Given the description of an element on the screen output the (x, y) to click on. 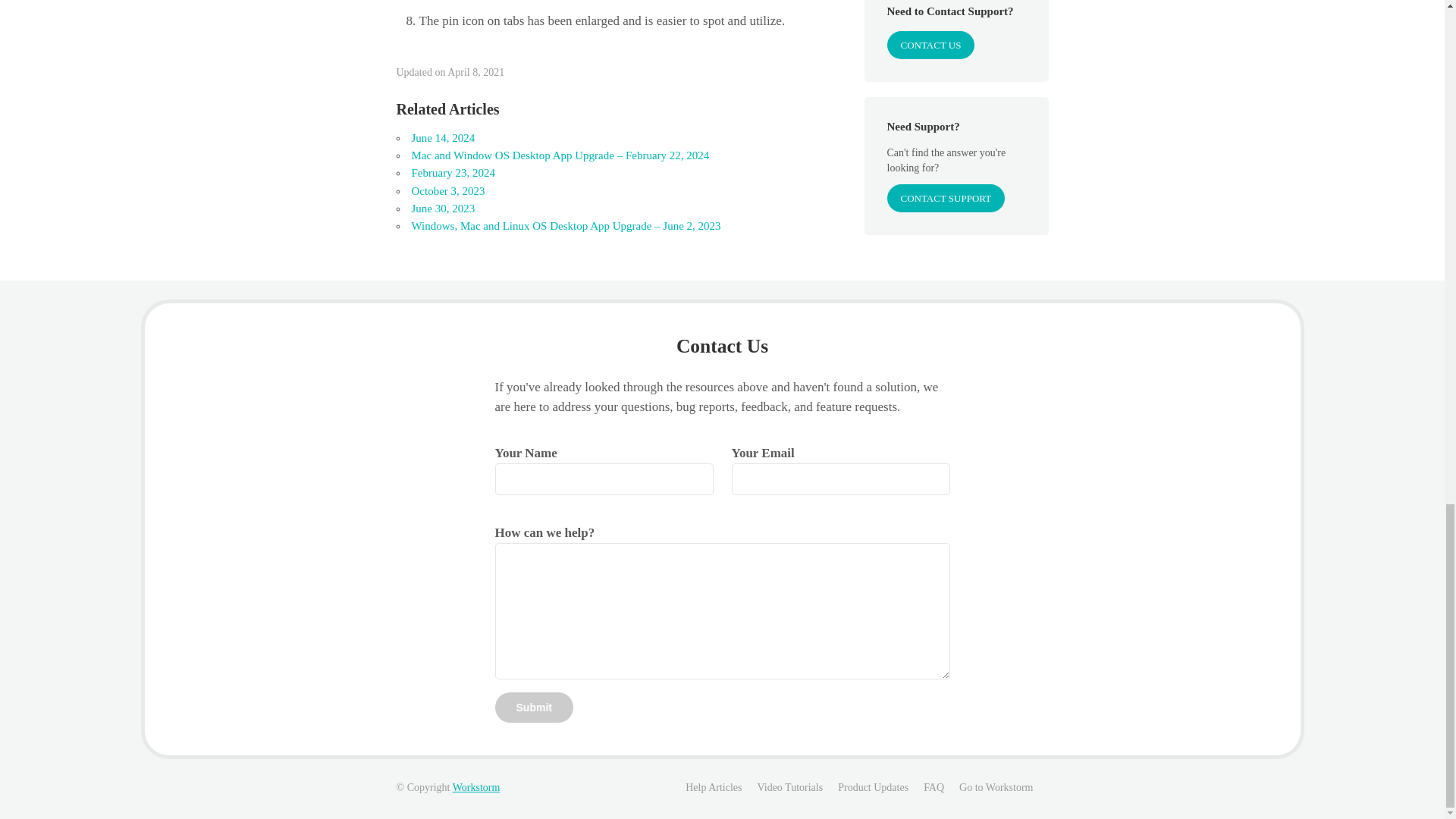
October 3, 2023 (447, 191)
Product Updates (873, 787)
February 23, 2024 (452, 173)
June 14, 2024 (442, 137)
Go to Workstorm (995, 787)
Return to Workstorm (476, 787)
Workstorm (476, 787)
June 30, 2023 (442, 208)
Video Tutorials (789, 787)
FAQ (933, 787)
Submit (533, 707)
Submit (533, 707)
Help Articles (713, 787)
